Given the description of an element on the screen output the (x, y) to click on. 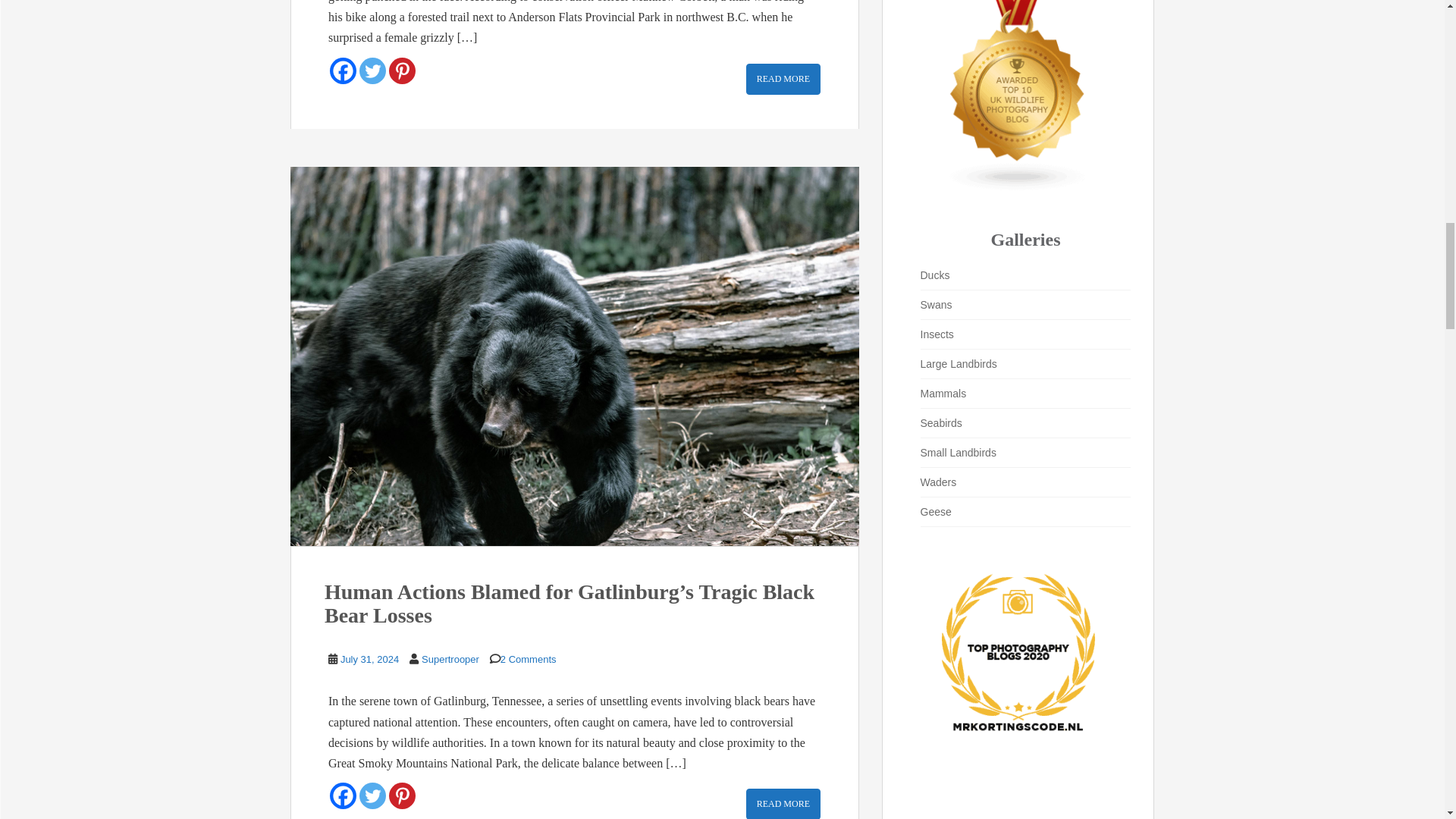
READ MORE (783, 79)
Pinterest (401, 70)
Facebook (343, 70)
Twitter (372, 70)
